Given the description of an element on the screen output the (x, y) to click on. 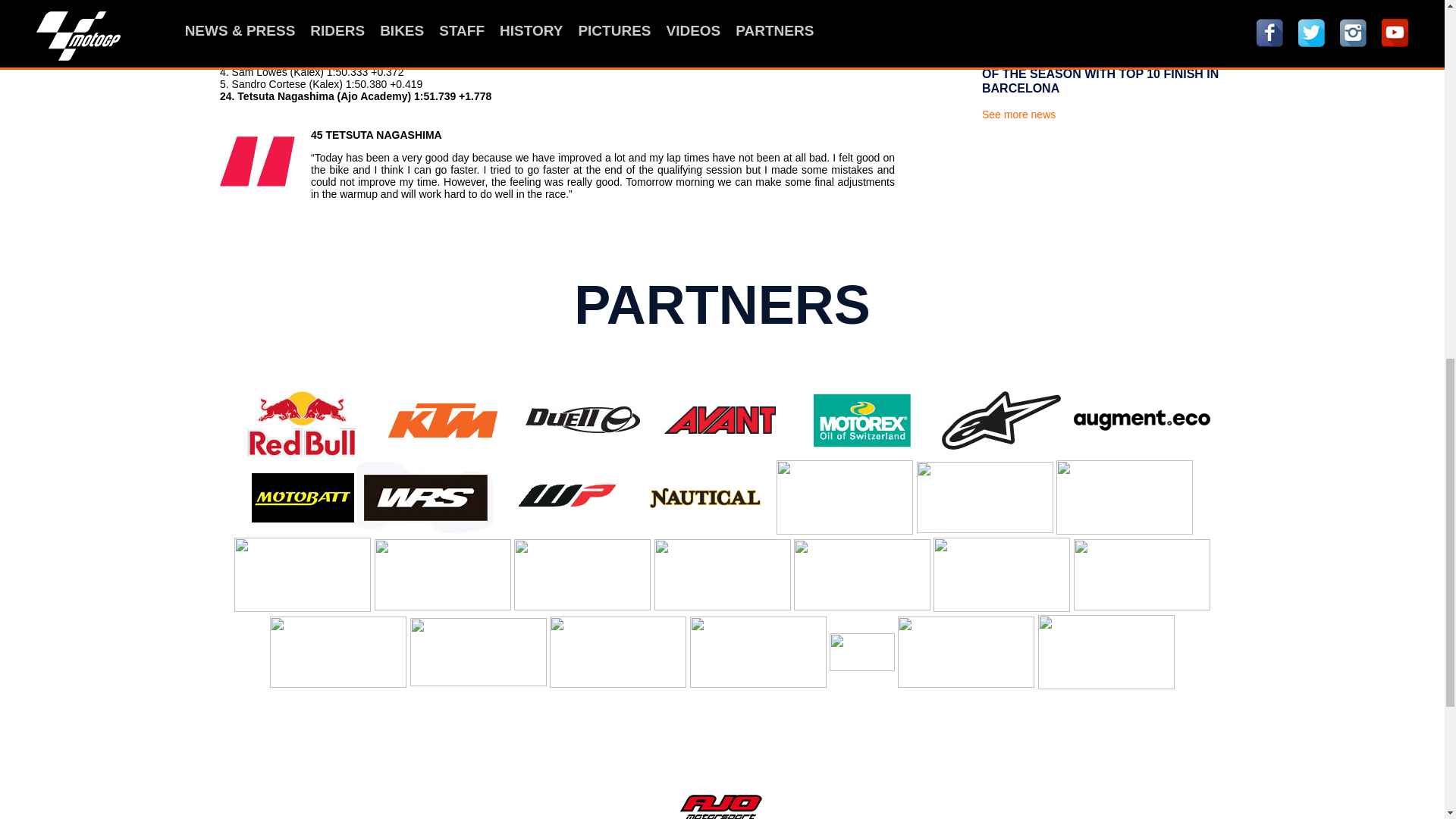
Moto (722, 803)
